Given the description of an element on the screen output the (x, y) to click on. 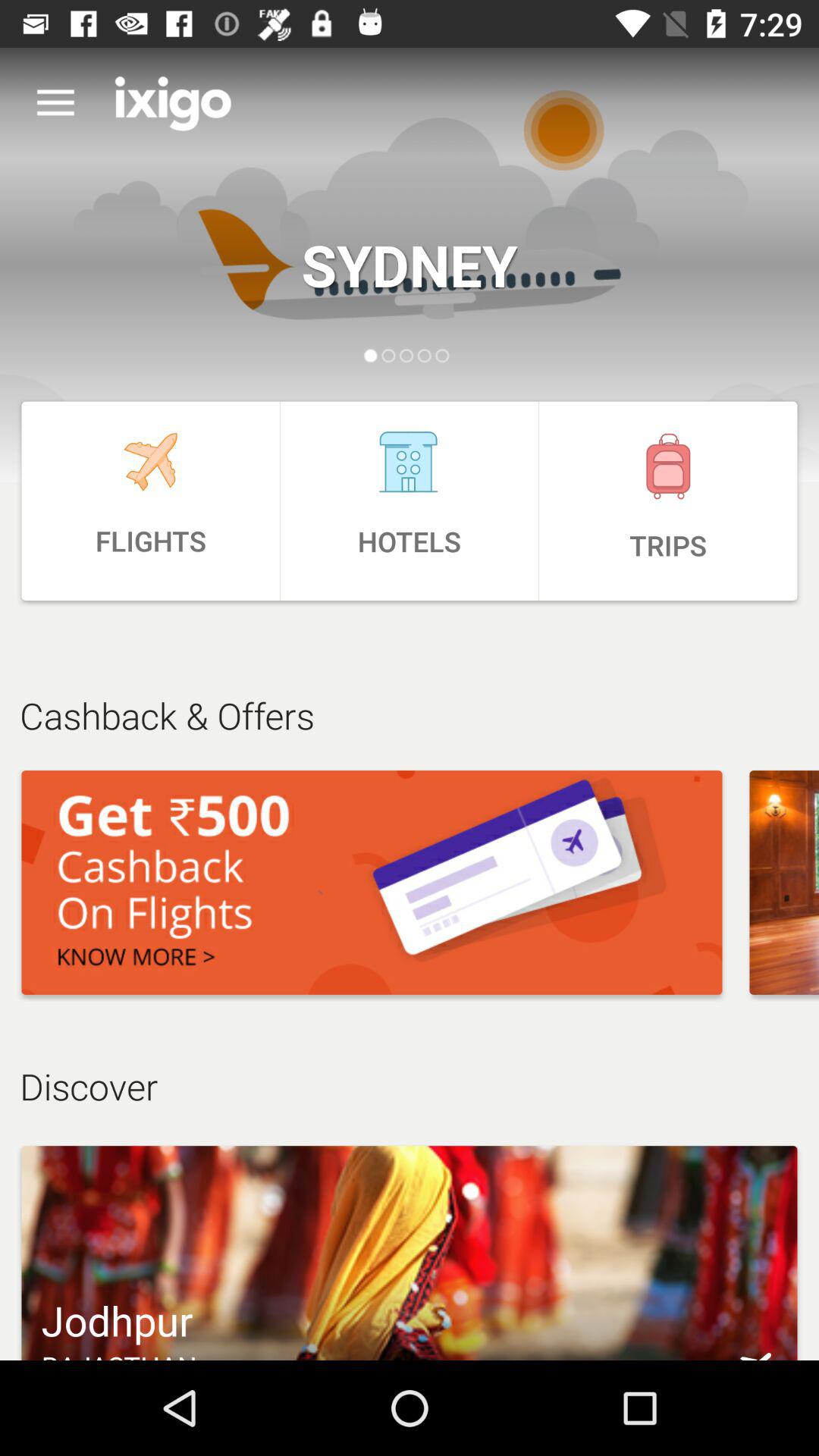
choose the flights (150, 500)
